Given the description of an element on the screen output the (x, y) to click on. 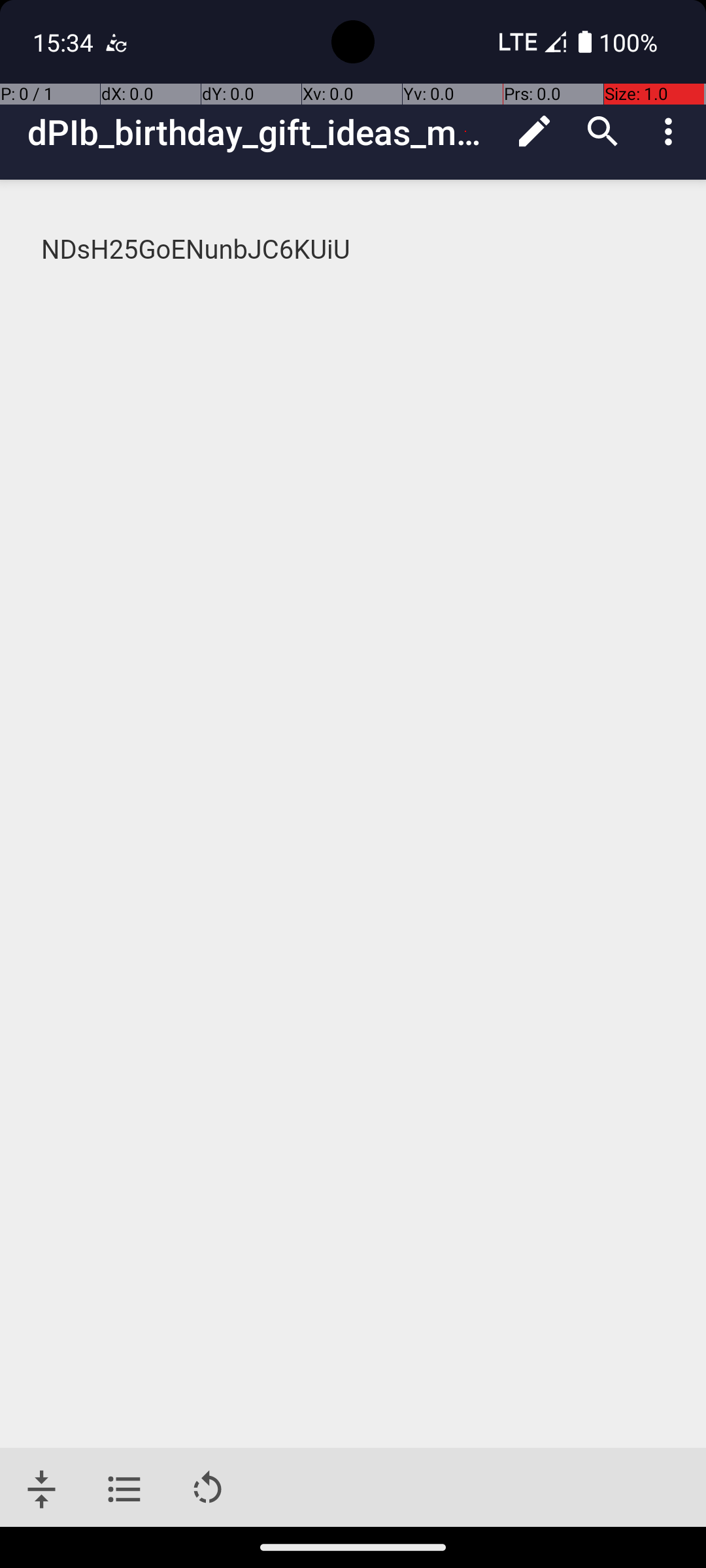
dPIb_birthday_gift_ideas_mom Element type: android.widget.TextView (263, 131)
NDsH25GoENunbJC6KUiU Element type: android.widget.TextView (354, 249)
